Given the description of an element on the screen output the (x, y) to click on. 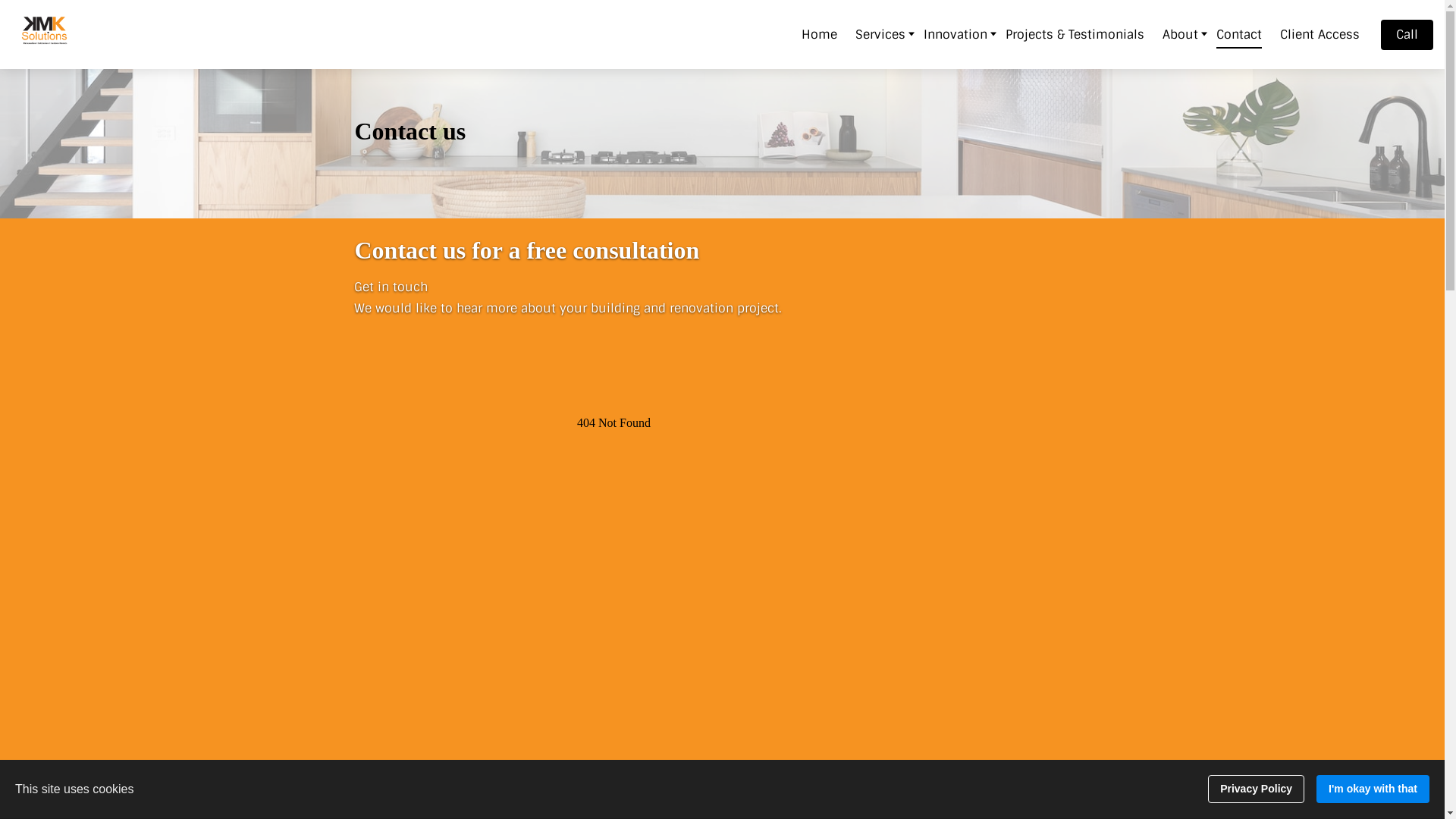
Projects & Testimonials Element type: text (1074, 33)
About Element type: text (1180, 33)
Innovation Element type: text (955, 33)
Client Access Element type: text (1319, 33)
Home Element type: text (819, 33)
Services Element type: text (880, 33)
Call Element type: text (1406, 34)
Contact Element type: text (1238, 33)
